Given the description of an element on the screen output the (x, y) to click on. 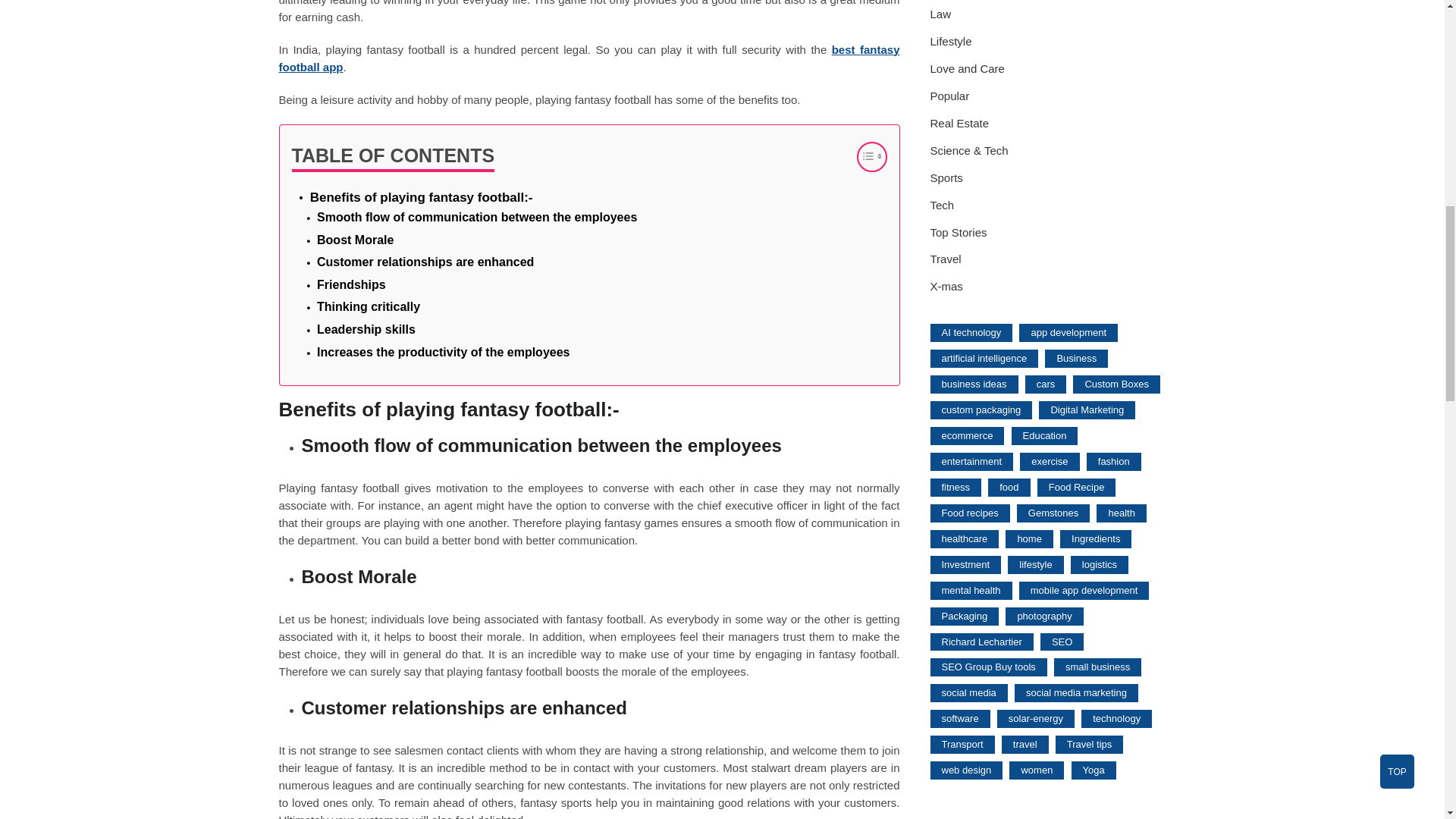
Benefits of playing fantasy football:- (421, 197)
Increases the productivity of the employees (443, 352)
Friendships (351, 284)
Thinking critically (368, 306)
Boost Morale (355, 240)
Customer relationships are enhanced (425, 261)
Leadership skills (365, 329)
Smooth flow of communication between the employees (477, 217)
